Given the description of an element on the screen output the (x, y) to click on. 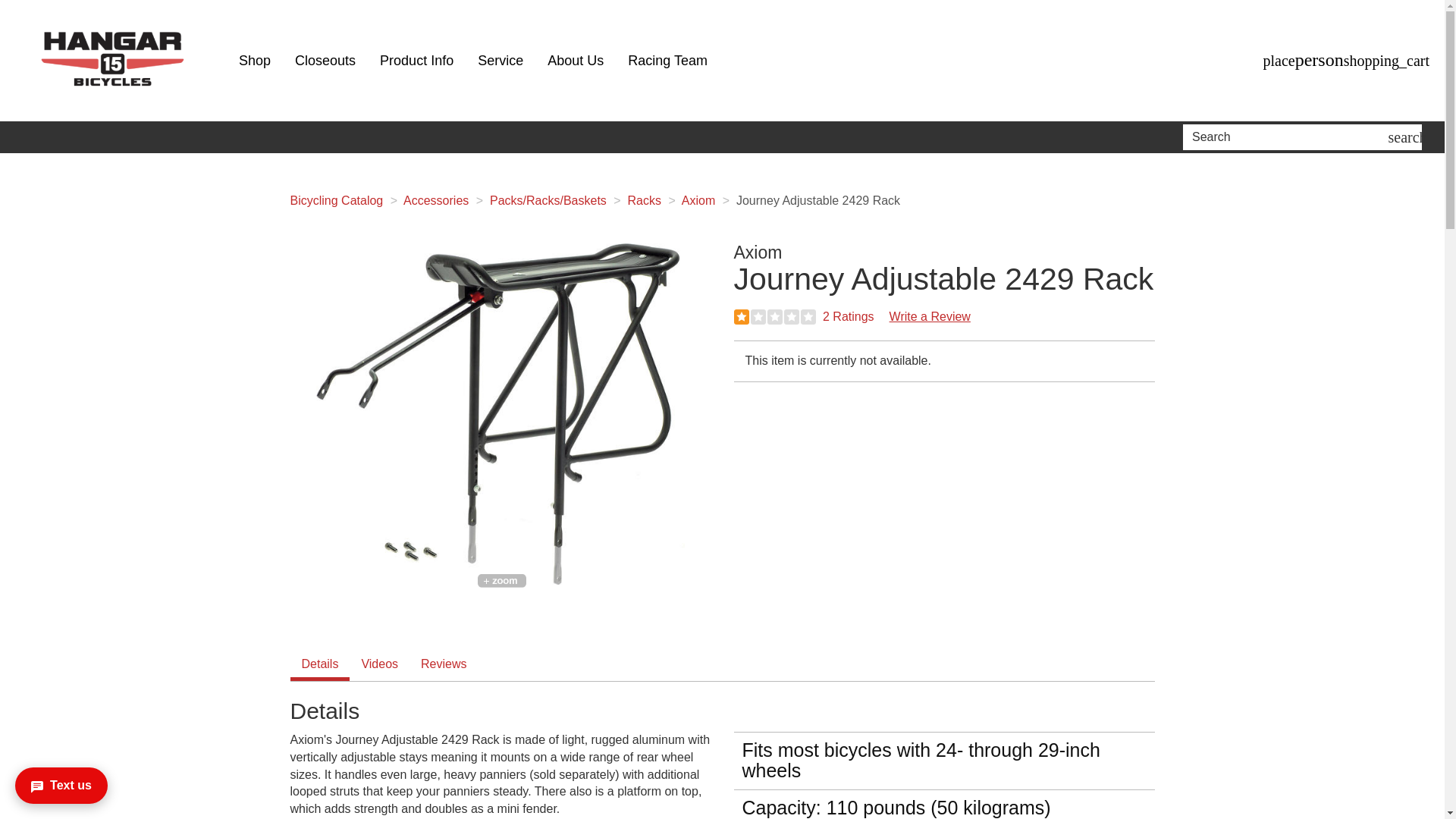
Axiom Journey Adjustable 2429 Rack  (499, 413)
Search (1287, 136)
Hangar 15 Bicycles Home Page (114, 60)
Webchat Widget (79, 777)
